Given the description of an element on the screen output the (x, y) to click on. 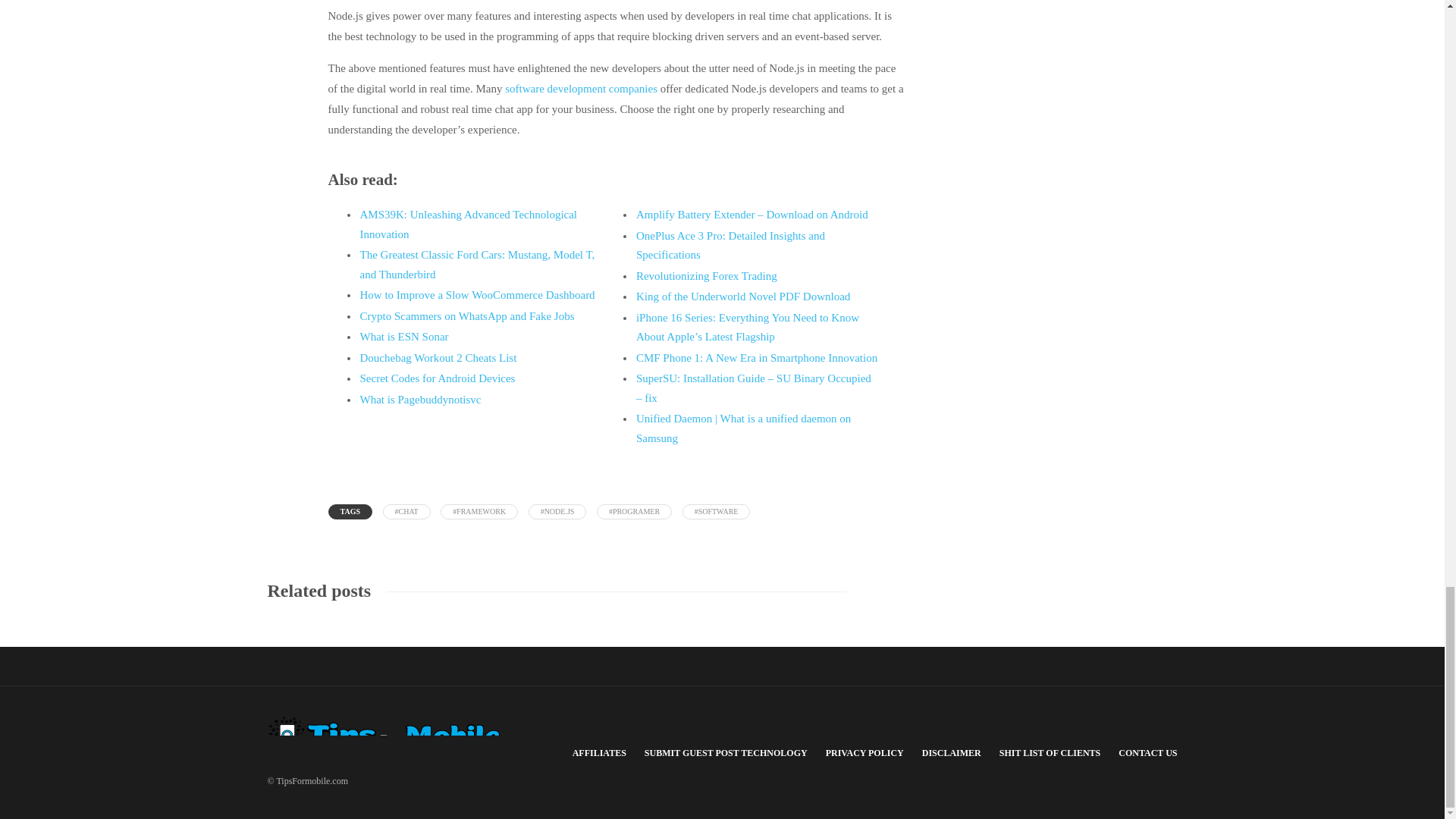
AMS39K: Unleashing Advanced Technological Innovation (467, 224)
software development companies (581, 88)
